Given the description of an element on the screen output the (x, y) to click on. 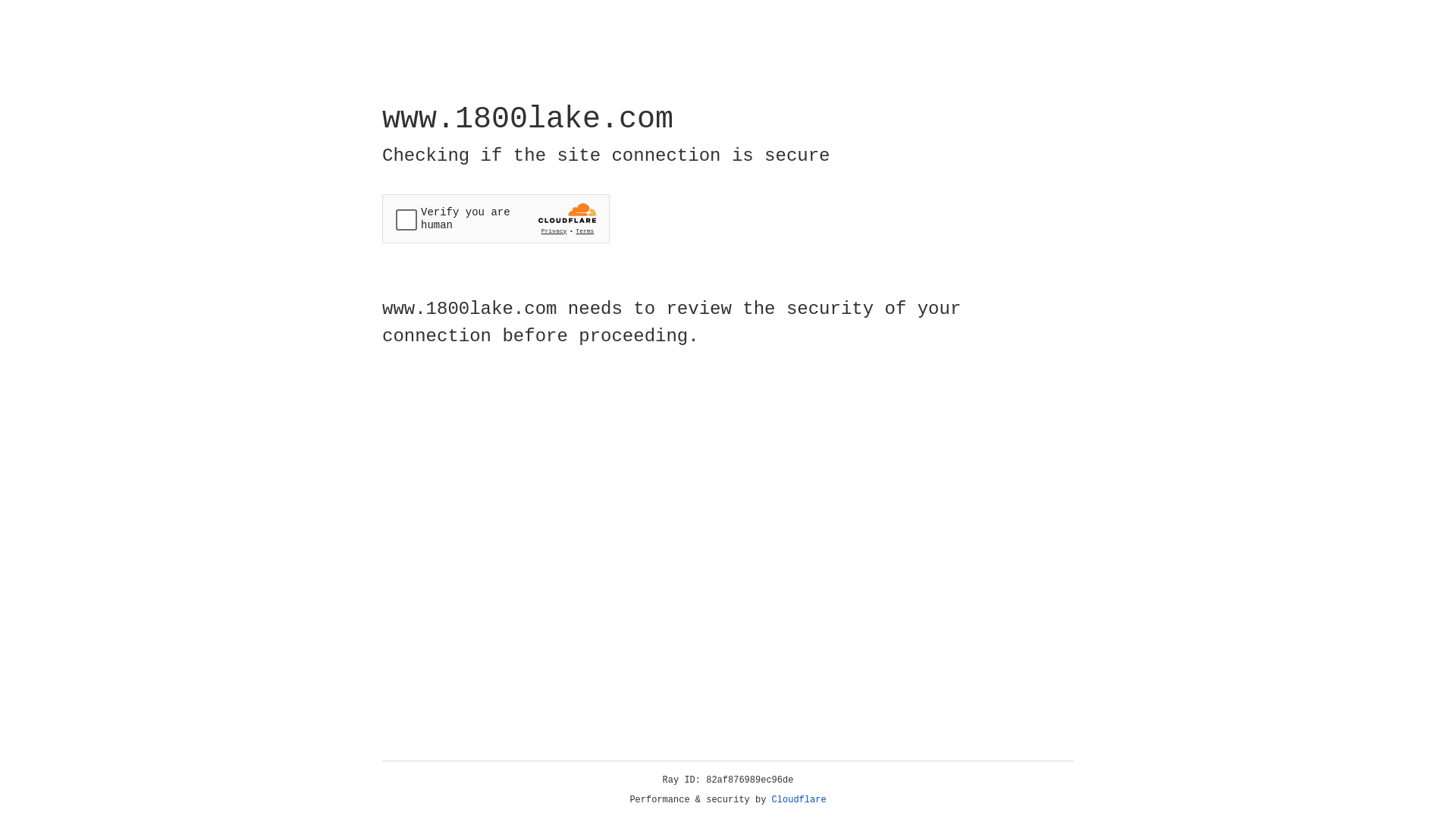
Cloudflare Element type: text (798, 799)
Widget containing a Cloudflare security challenge Element type: hover (495, 218)
